Given the description of an element on the screen output the (x, y) to click on. 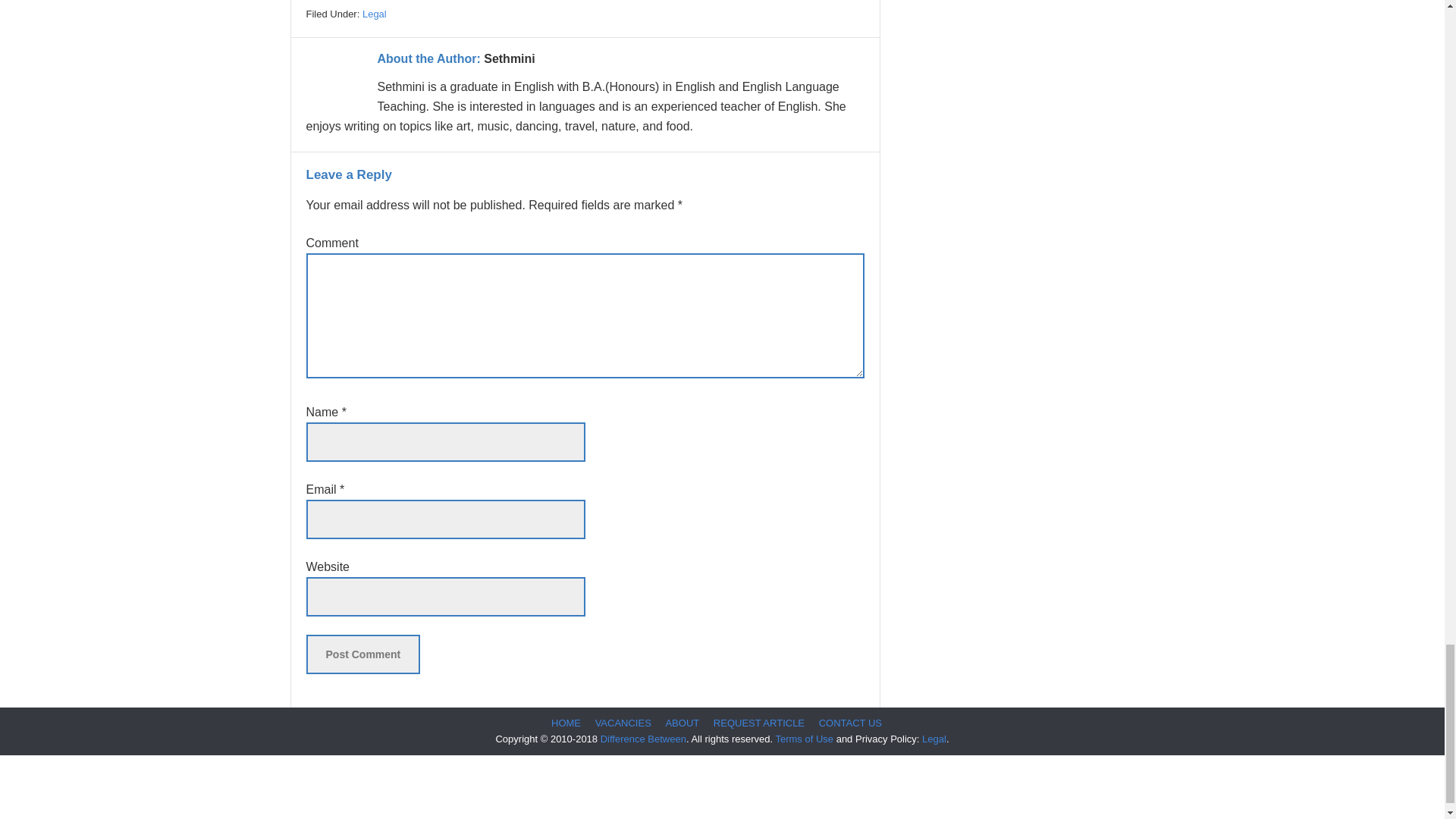
Legal (374, 13)
Post Comment (362, 654)
Post Comment (362, 654)
